Given the description of an element on the screen output the (x, y) to click on. 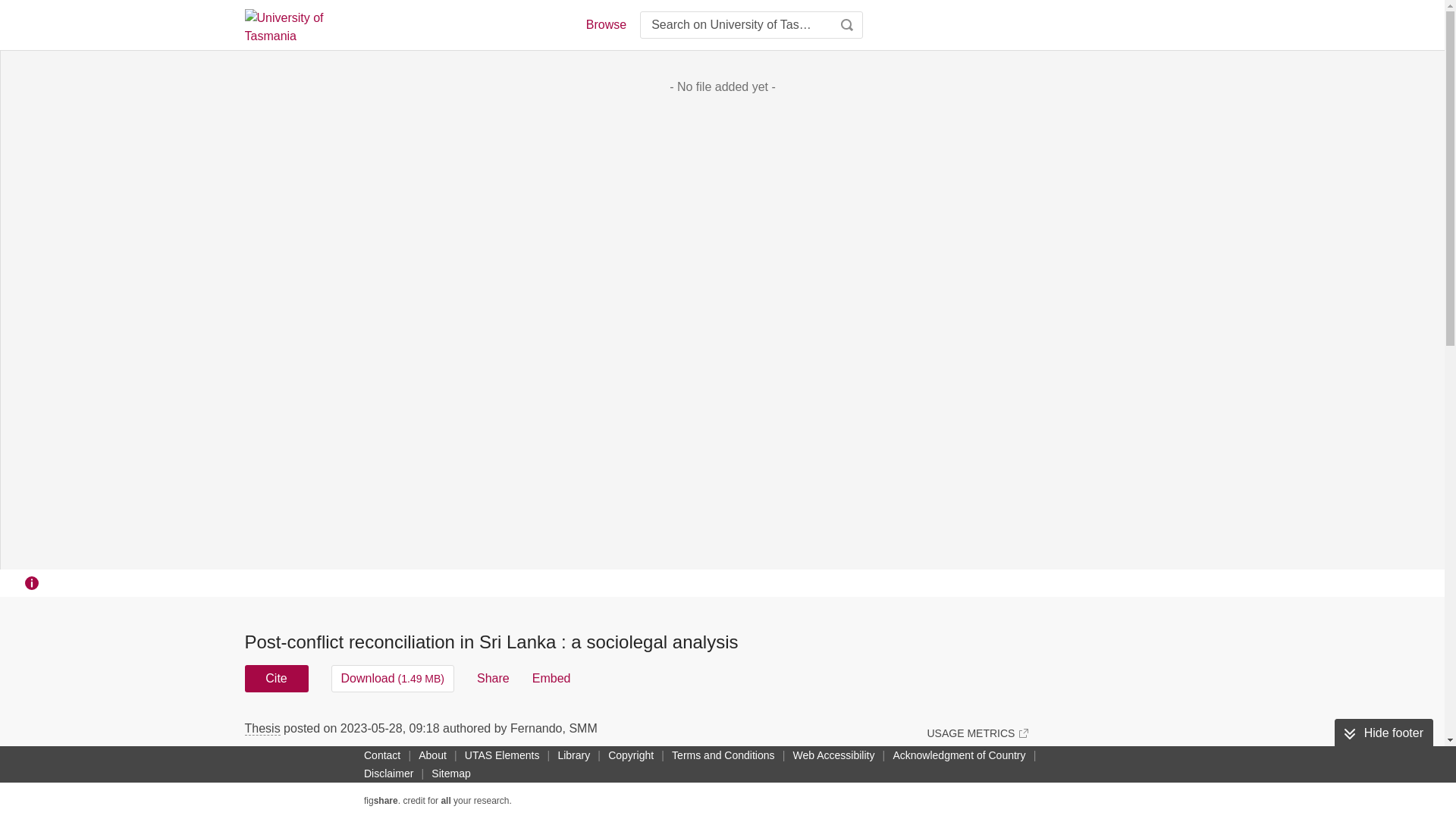
USAGE METRICS (976, 732)
Embed (551, 678)
Browse (605, 24)
About (432, 755)
Cite (275, 678)
Copyright (631, 755)
Terms and Conditions (722, 755)
Library (573, 755)
Disclaimer (388, 773)
UTAS Elements (502, 755)
